Given the description of an element on the screen output the (x, y) to click on. 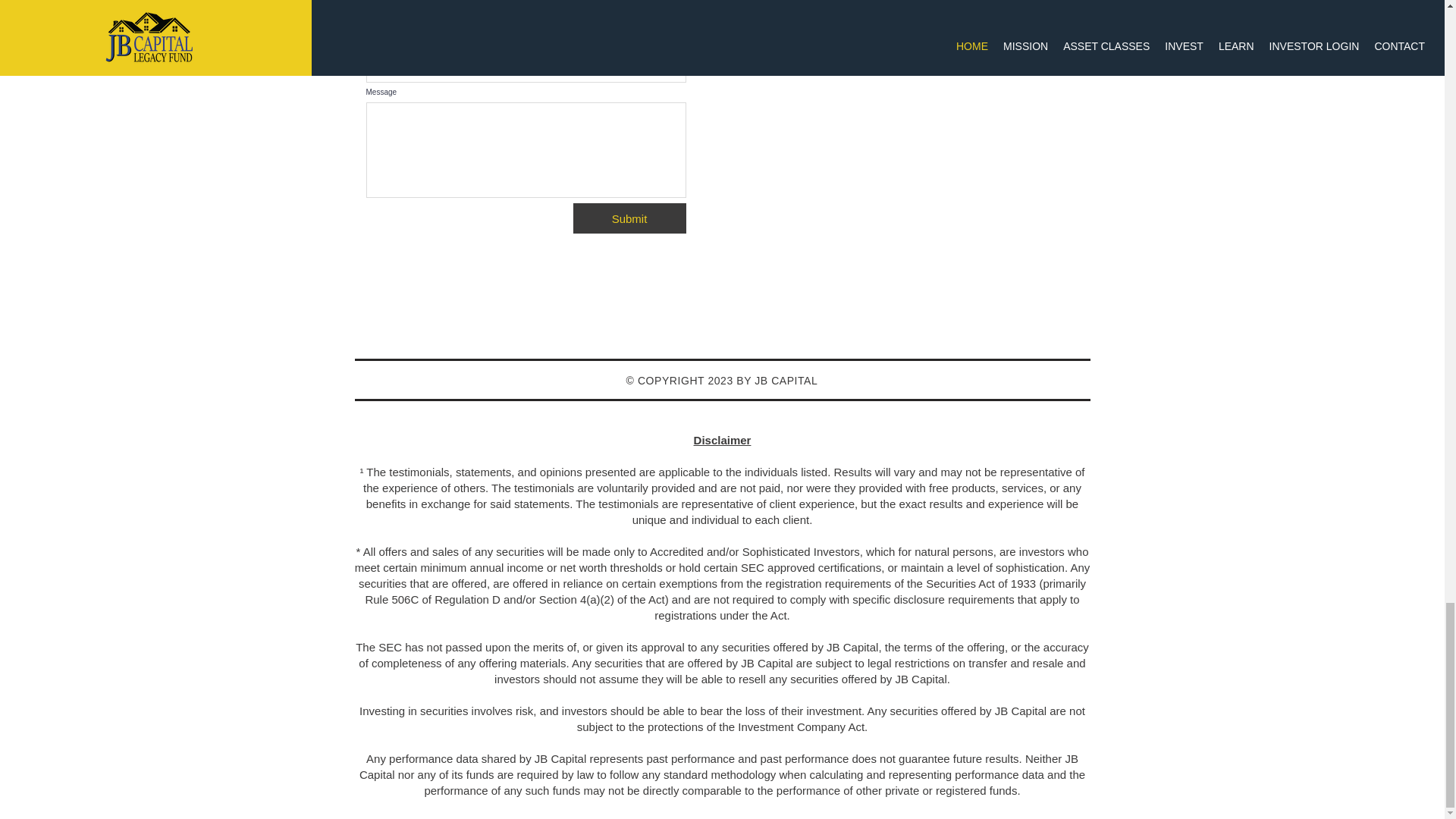
Submit (629, 218)
